Given the description of an element on the screen output the (x, y) to click on. 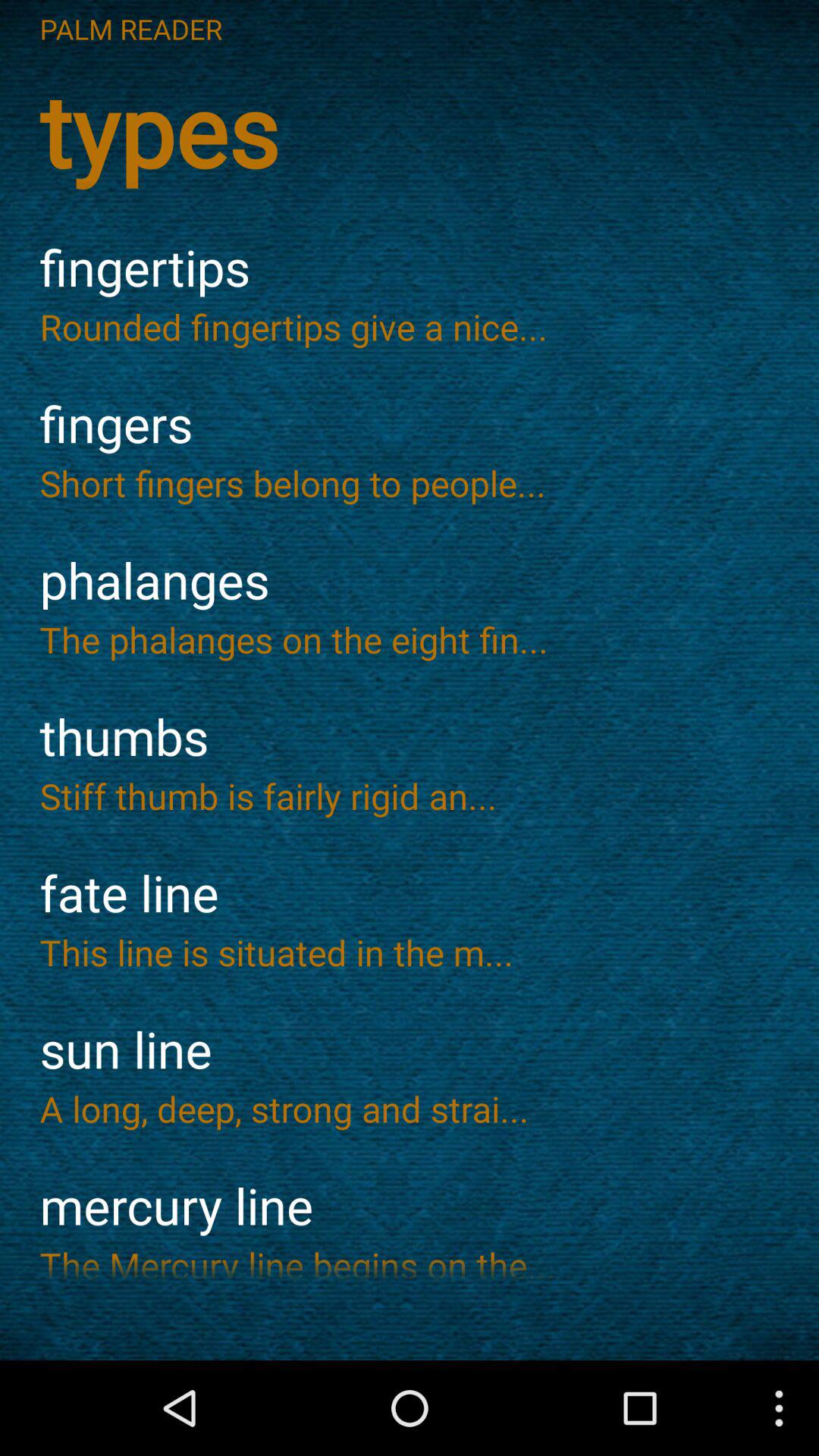
choose icon below fingertips (409, 326)
